Given the description of an element on the screen output the (x, y) to click on. 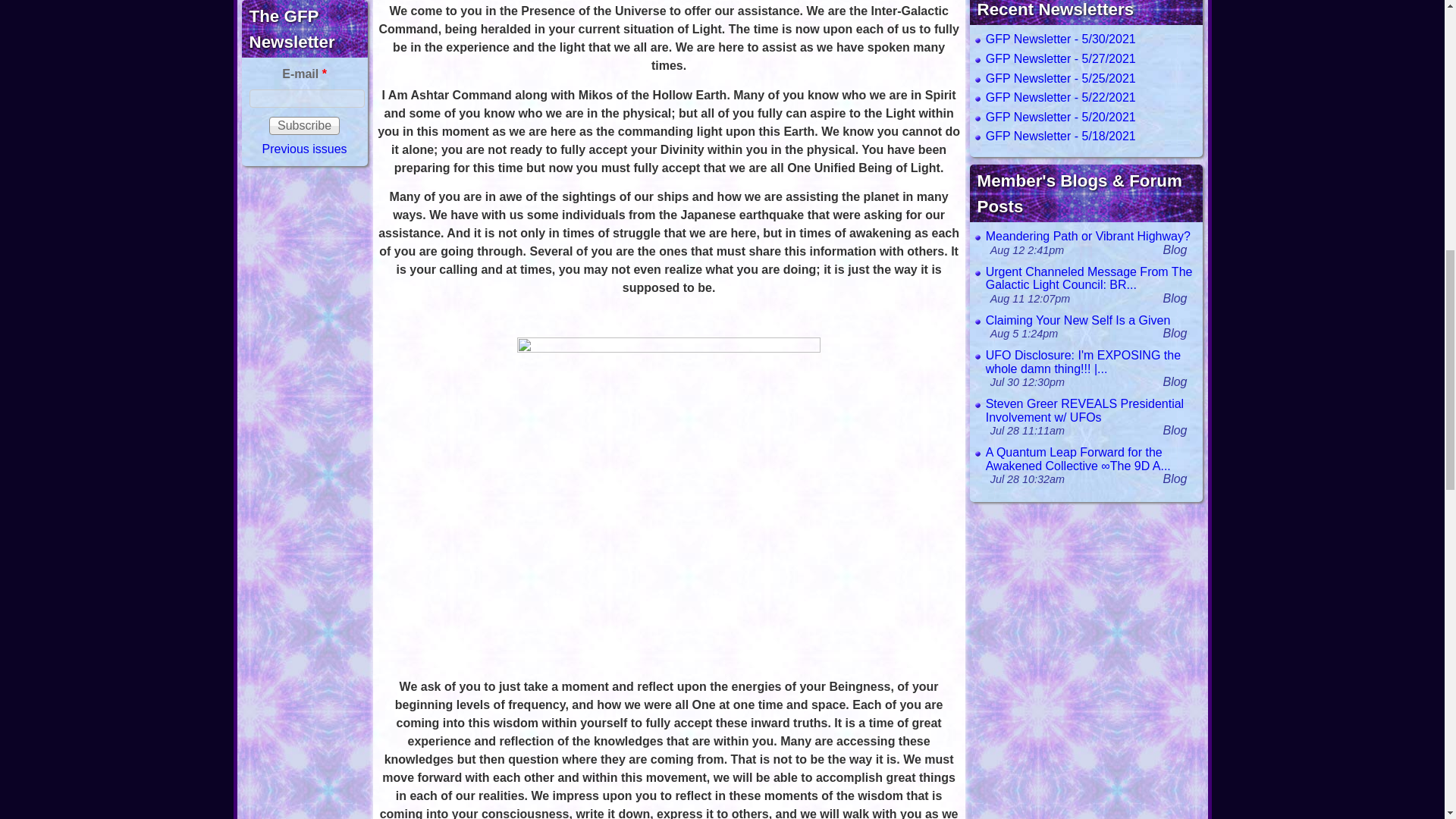
Subscribe (304, 126)
Subscribe (304, 126)
Previous issues (304, 148)
